Given the description of an element on the screen output the (x, y) to click on. 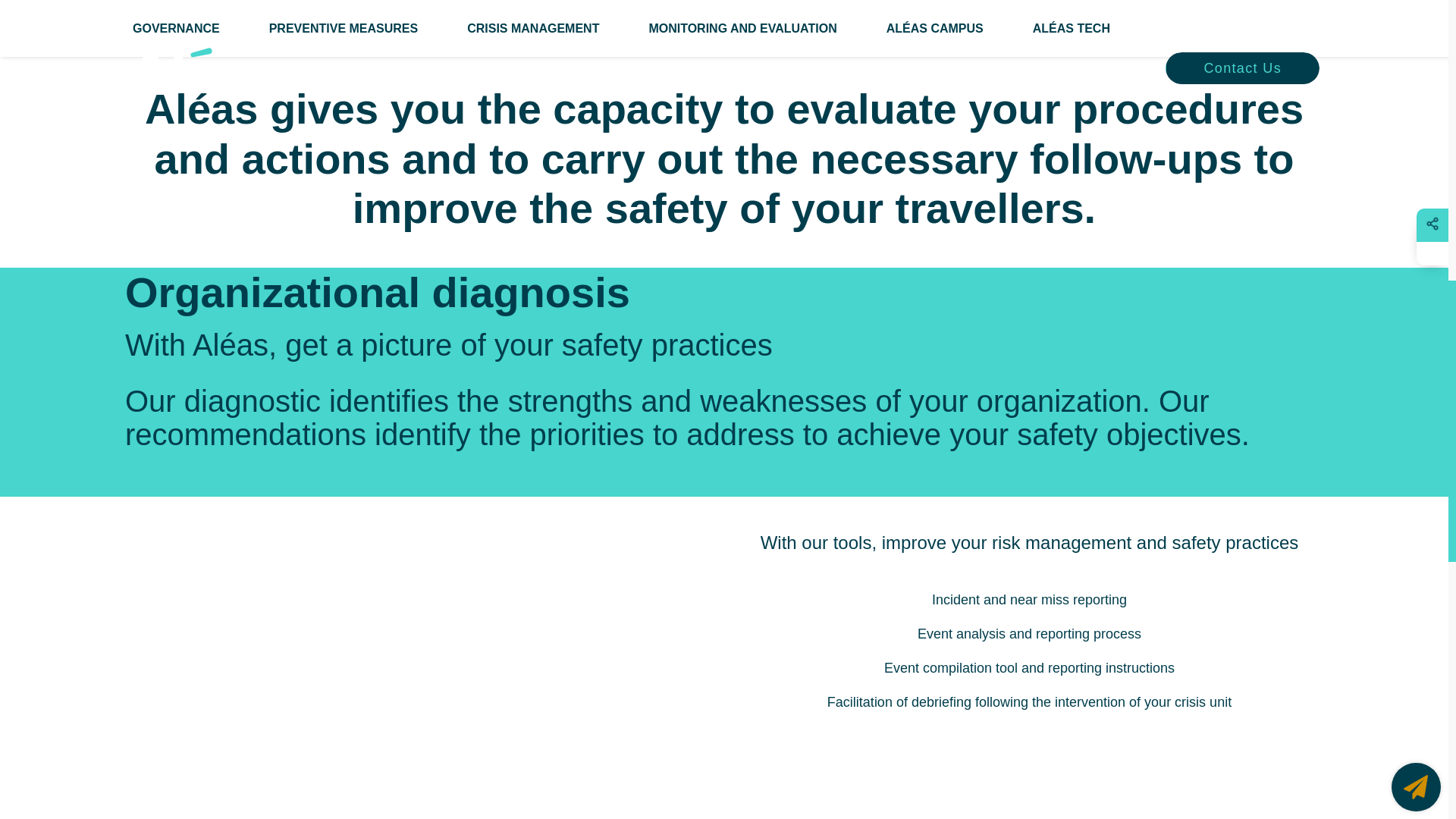
MONITORING AND EVALUATION (741, 28)
GOVERNANCE (175, 28)
PREVENTIVE MEASURES (343, 28)
CRISIS MANAGEMENT (532, 28)
